Given the description of an element on the screen output the (x, y) to click on. 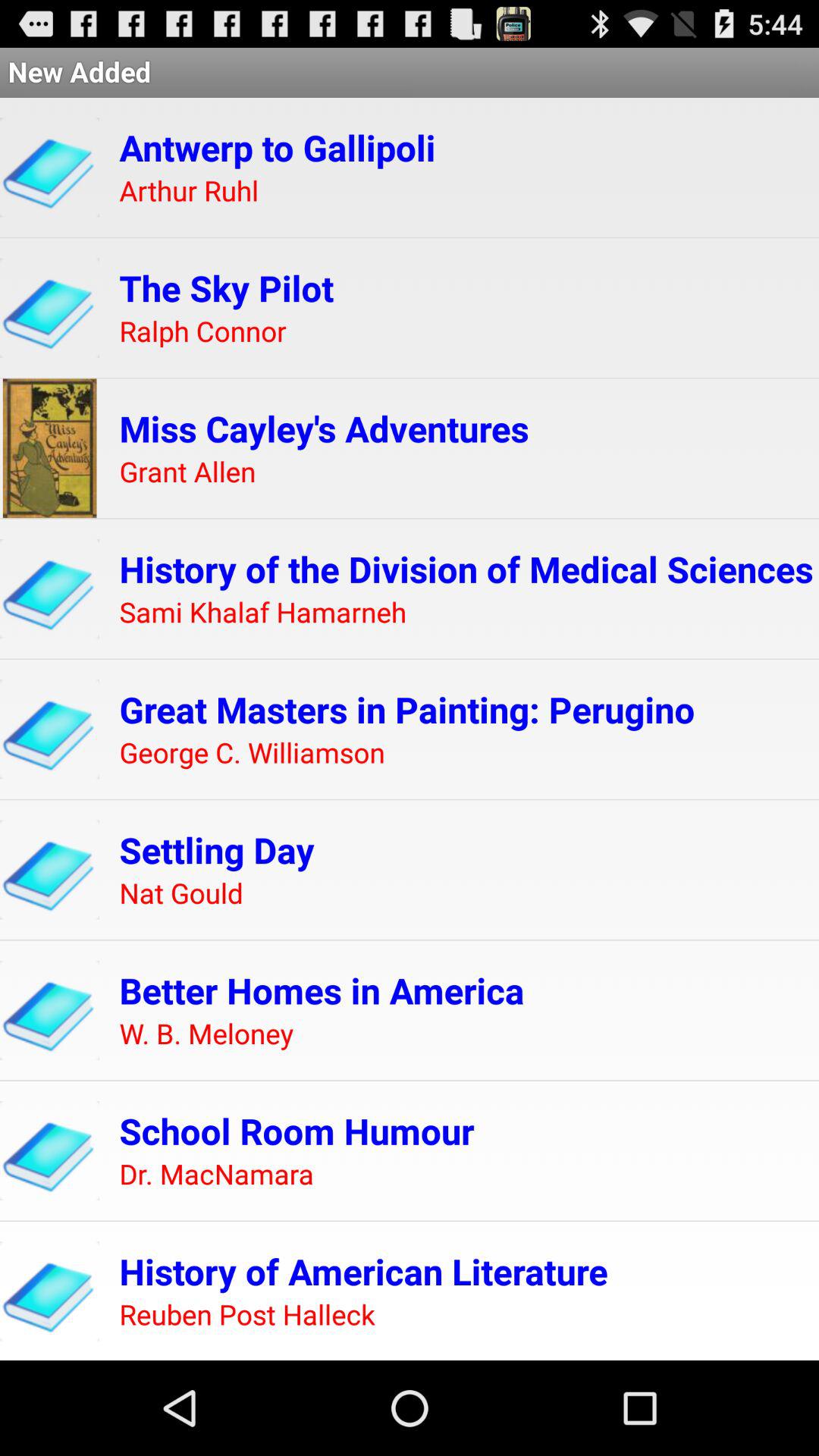
turn off the item below the george c. williamson (216, 849)
